Given the description of an element on the screen output the (x, y) to click on. 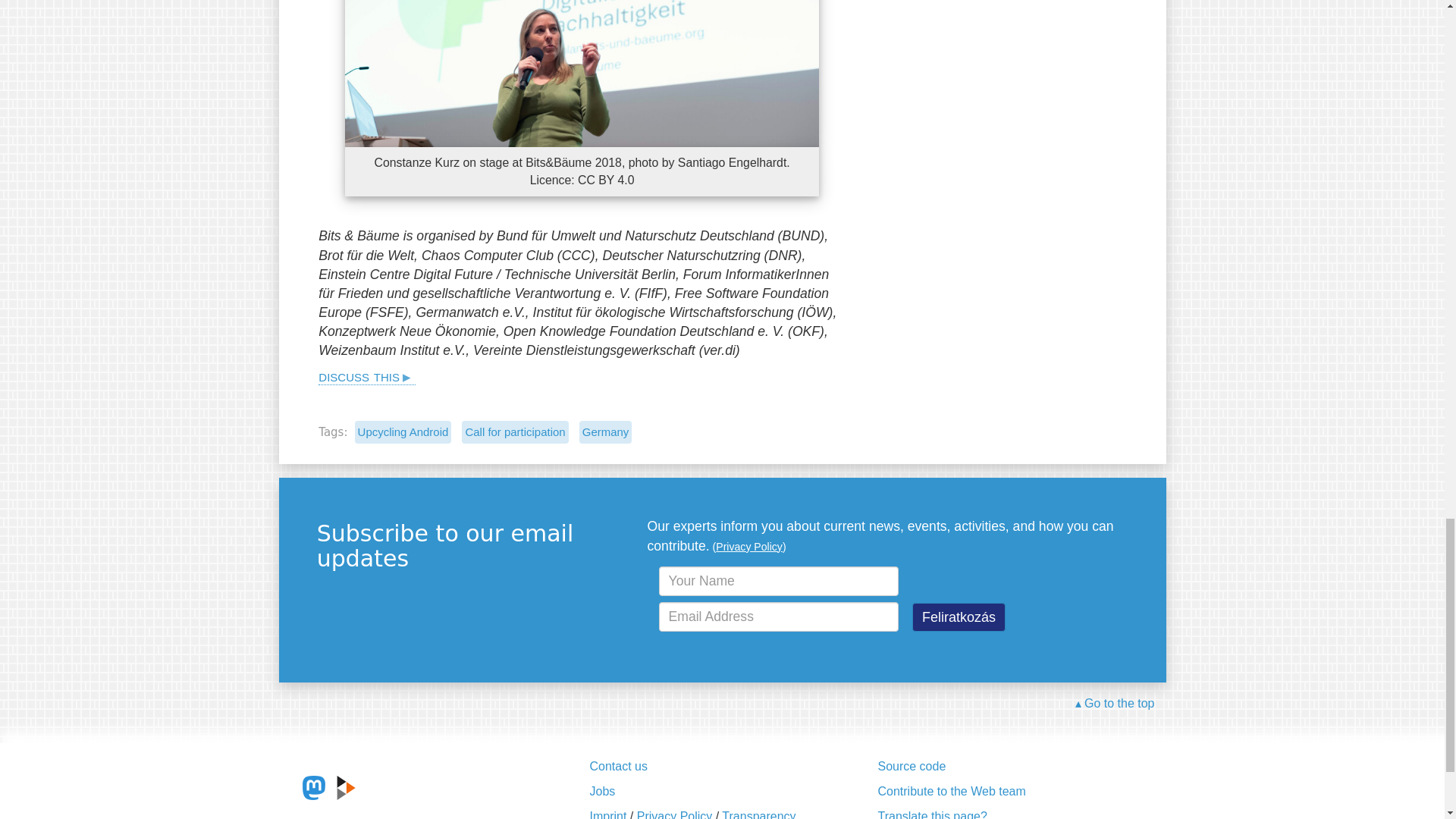
Upcycling Android (403, 431)
Germany (605, 431)
Peertube (345, 787)
Mastodon (313, 787)
discuss this (366, 375)
Privacy Policy (749, 546)
Call for participation (514, 431)
